Given the description of an element on the screen output the (x, y) to click on. 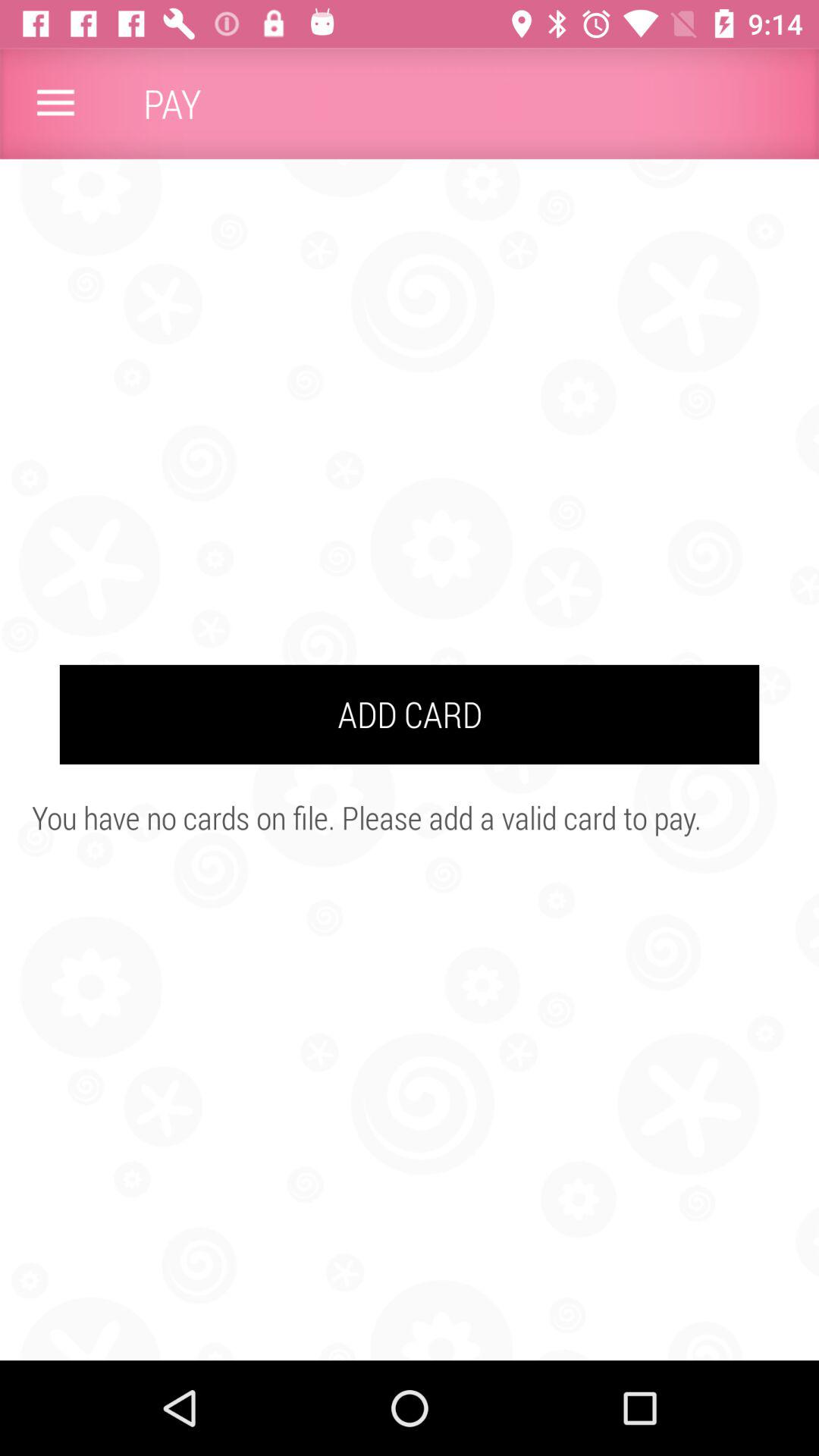
turn off the item to the left of pay icon (55, 103)
